Given the description of an element on the screen output the (x, y) to click on. 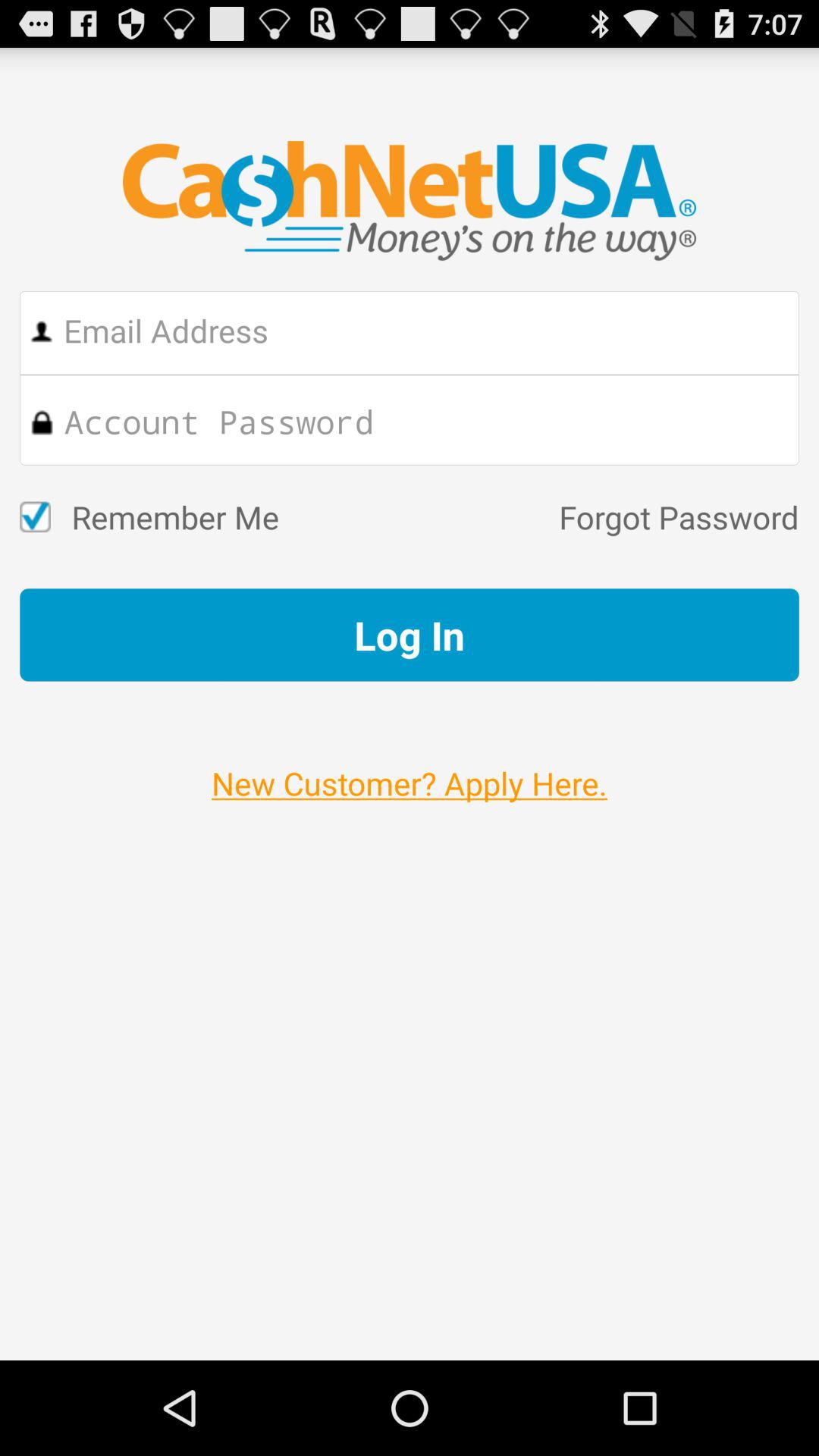
launch the log in button (409, 634)
